Given the description of an element on the screen output the (x, y) to click on. 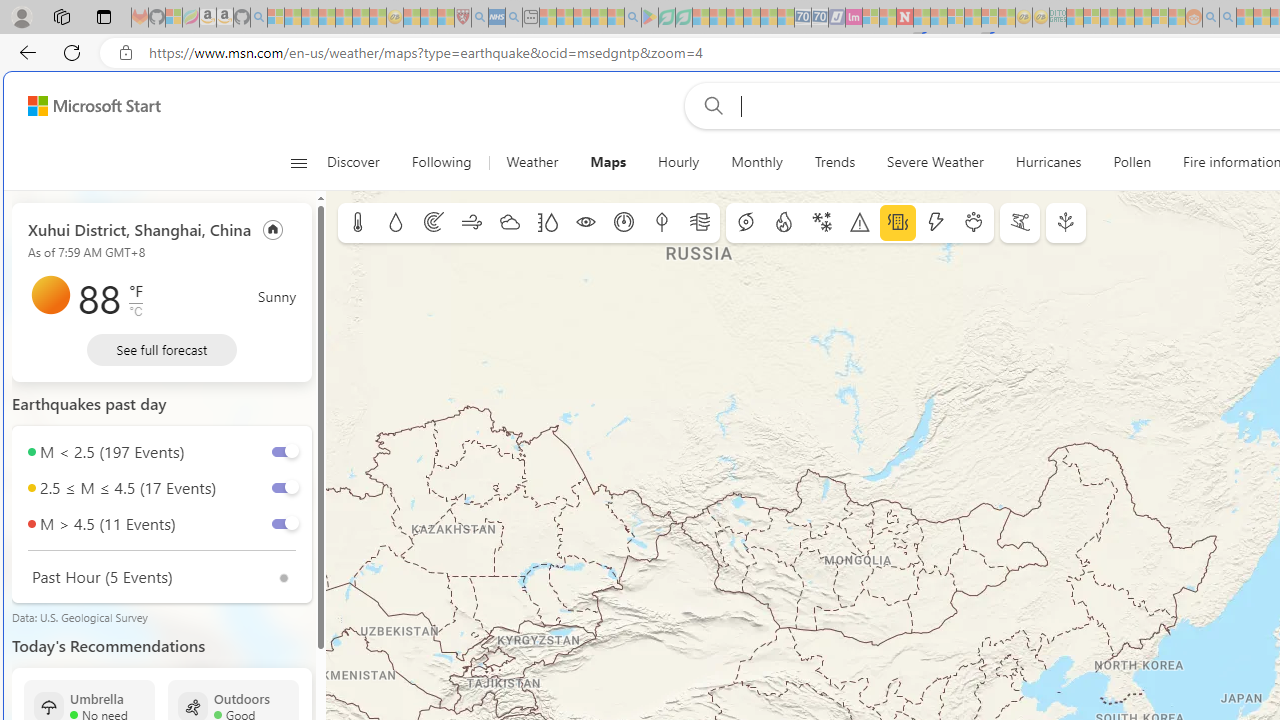
Severe Weather (935, 162)
Trends (834, 162)
Cheap Car Rentals - Save70.com - Sleeping (802, 17)
Following (443, 162)
MSNBC - MSN - Sleeping (1074, 17)
E-tree (1066, 223)
Precipitation (395, 223)
Open navigation menu (298, 162)
